Given the description of an element on the screen output the (x, y) to click on. 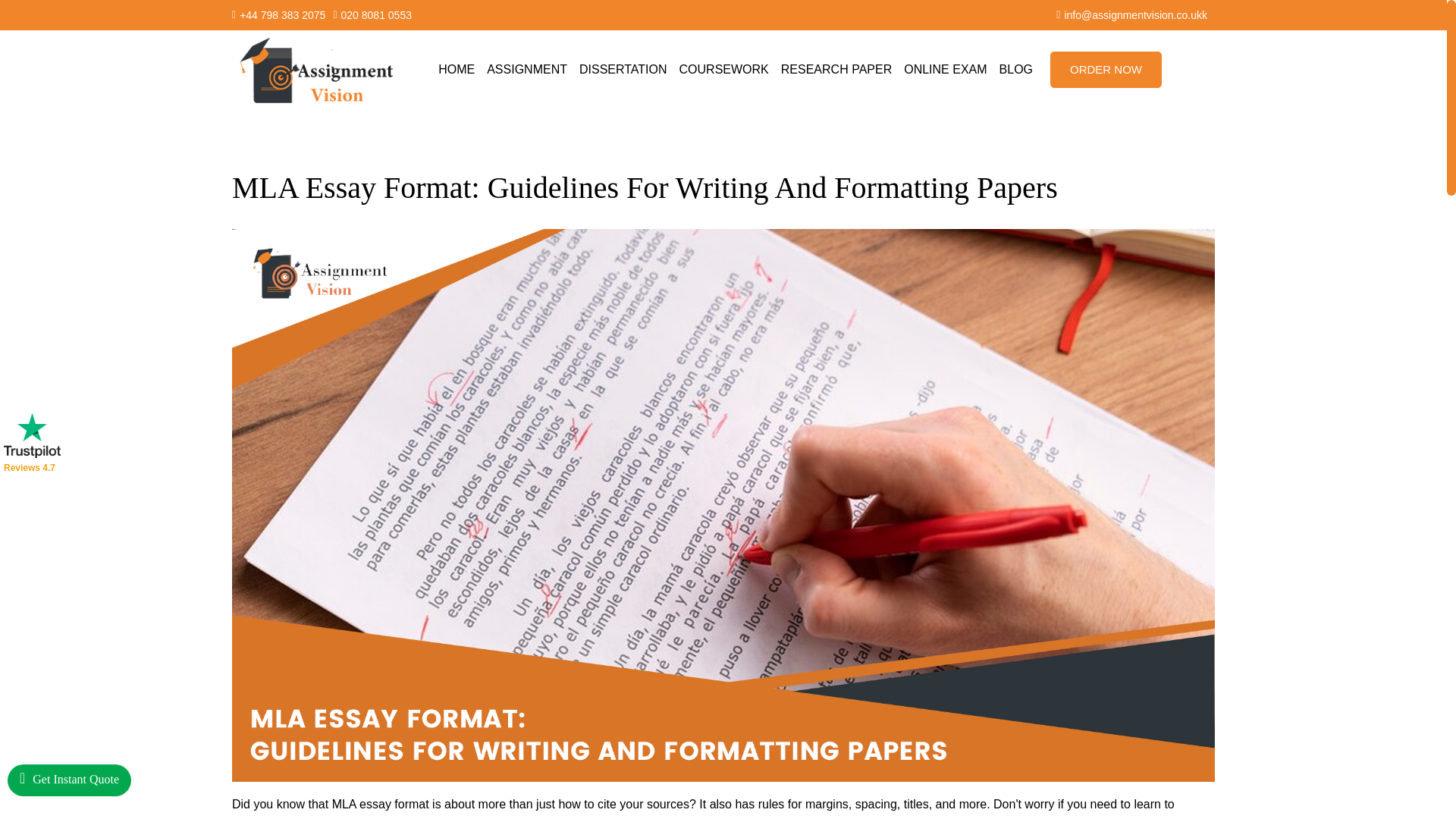
BLOG (1016, 69)
RESEARCH PAPER (835, 69)
RESEARCH PAPER (835, 69)
COURSEWORK (724, 69)
HOME (456, 69)
ONLINE EXAM (944, 69)
ONLINE EXAM (944, 69)
ASSIGNMENT (526, 69)
COURSEWORK (724, 69)
DISSERTATION (622, 69)
HOME (456, 69)
BLOG (1016, 69)
ORDER NOW (1105, 69)
Get Instant Quote (69, 780)
DISSERTATION (622, 69)
